Given the description of an element on the screen output the (x, y) to click on. 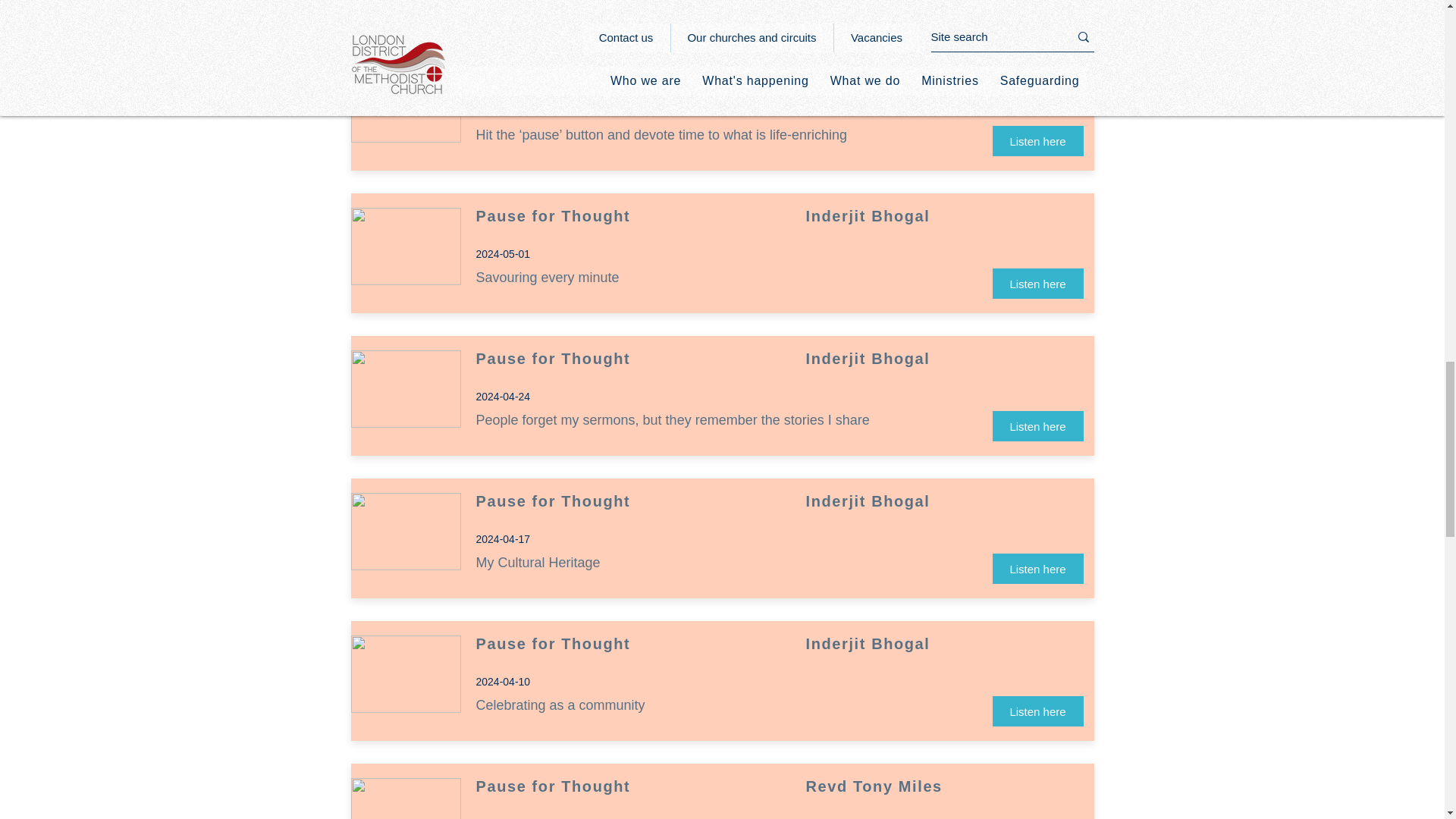
Pause for Thought - Inderjit Bhogal.jpg (405, 246)
Capture.PNG (405, 798)
Pause for Thought - Inderjit Bhogal.jpg (405, 673)
Pause for Thought - Inderjit Bhogal.jpg (405, 388)
Capture.PNG (405, 103)
Pause for Thought - Inderjit Bhogal.jpg (405, 531)
